Given the description of an element on the screen output the (x, y) to click on. 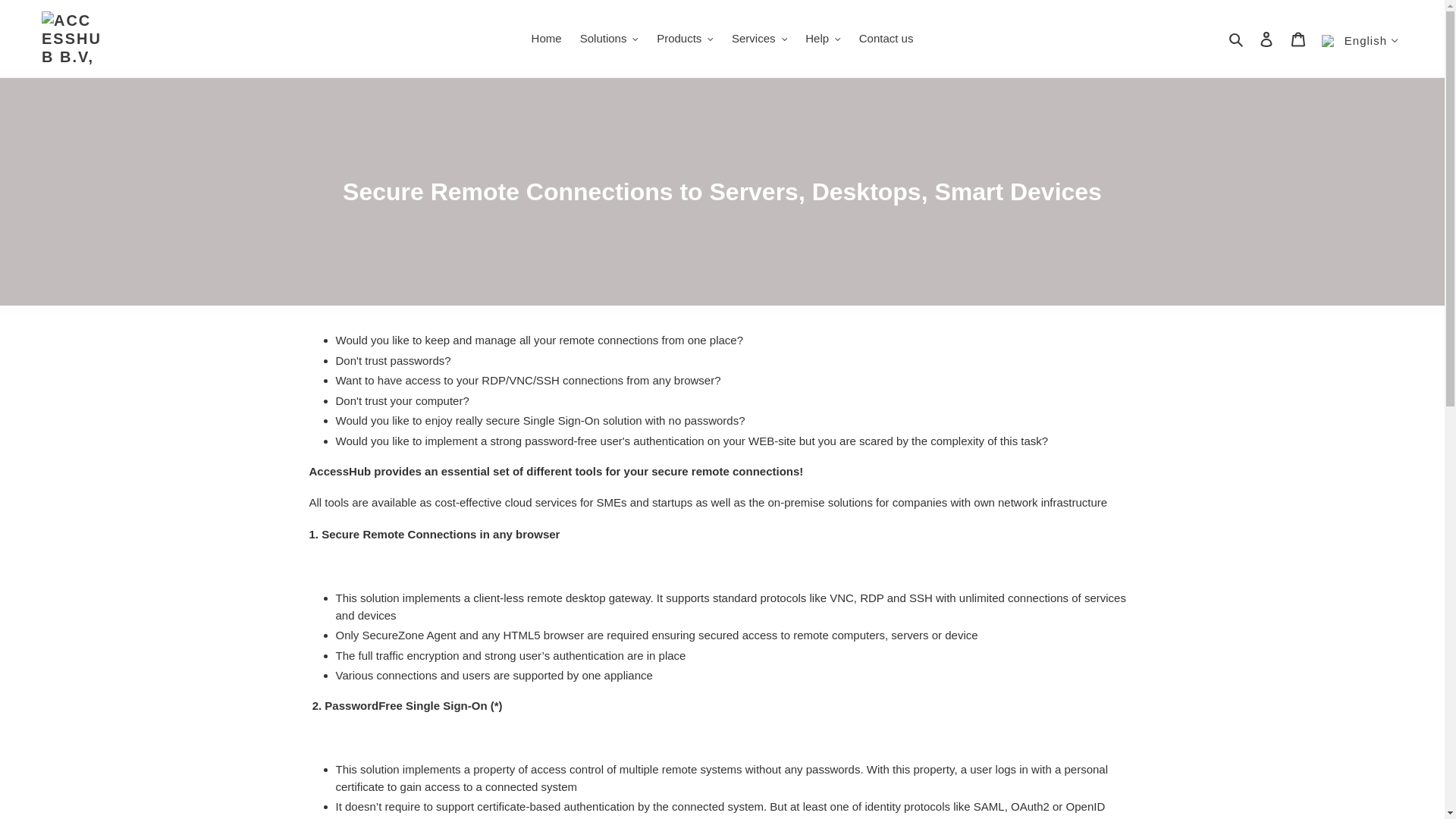
Cart (1298, 38)
Home (546, 38)
Help (822, 38)
Log in (1266, 38)
Products (684, 38)
Services (758, 38)
Contact us (886, 38)
Search (1237, 38)
Solutions (609, 38)
